Given the description of an element on the screen output the (x, y) to click on. 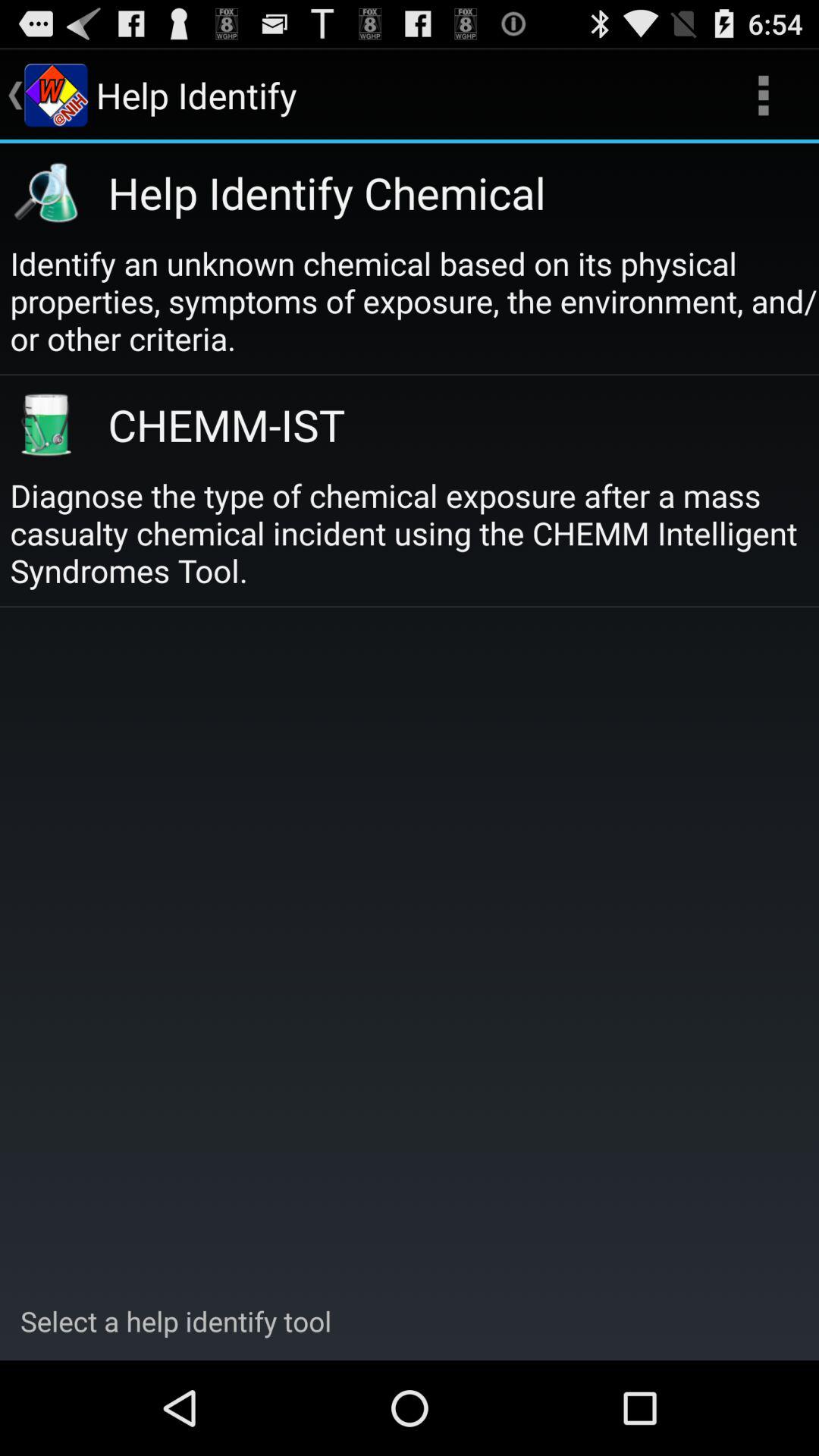
choose icon above select a help item (414, 532)
